Given the description of an element on the screen output the (x, y) to click on. 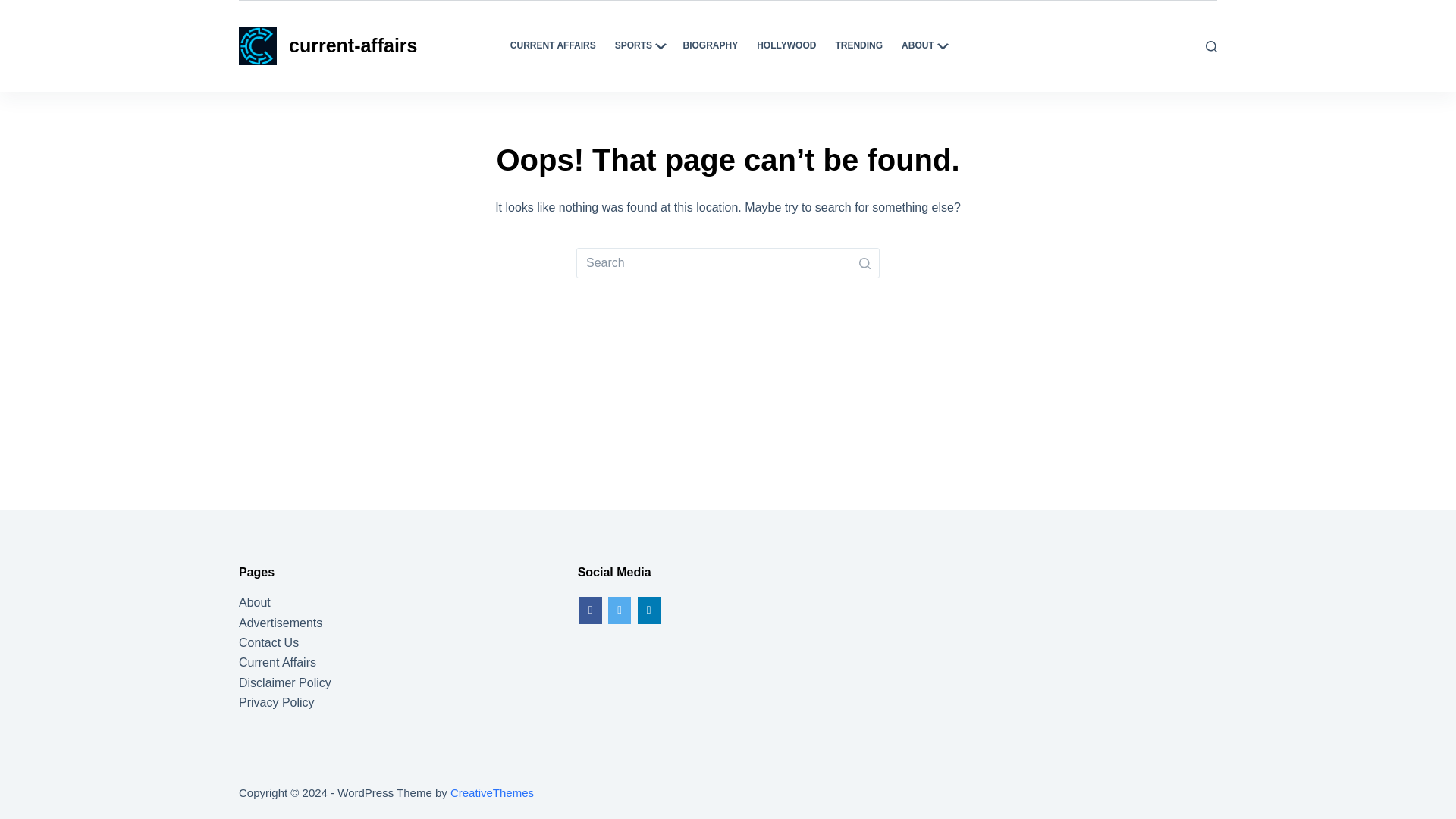
About (254, 602)
SPORTS (638, 45)
Contact Us (268, 642)
Current Affairs (276, 662)
ABOUT (923, 45)
Search for... (727, 263)
Disclaimer Policy (284, 682)
CURRENT AFFAIRS (552, 45)
TRENDING (858, 45)
BIOGRAPHY (710, 45)
current-affairs (352, 45)
Advertisements (279, 622)
HOLLYWOOD (786, 45)
Skip to content (15, 7)
